Given the description of an element on the screen output the (x, y) to click on. 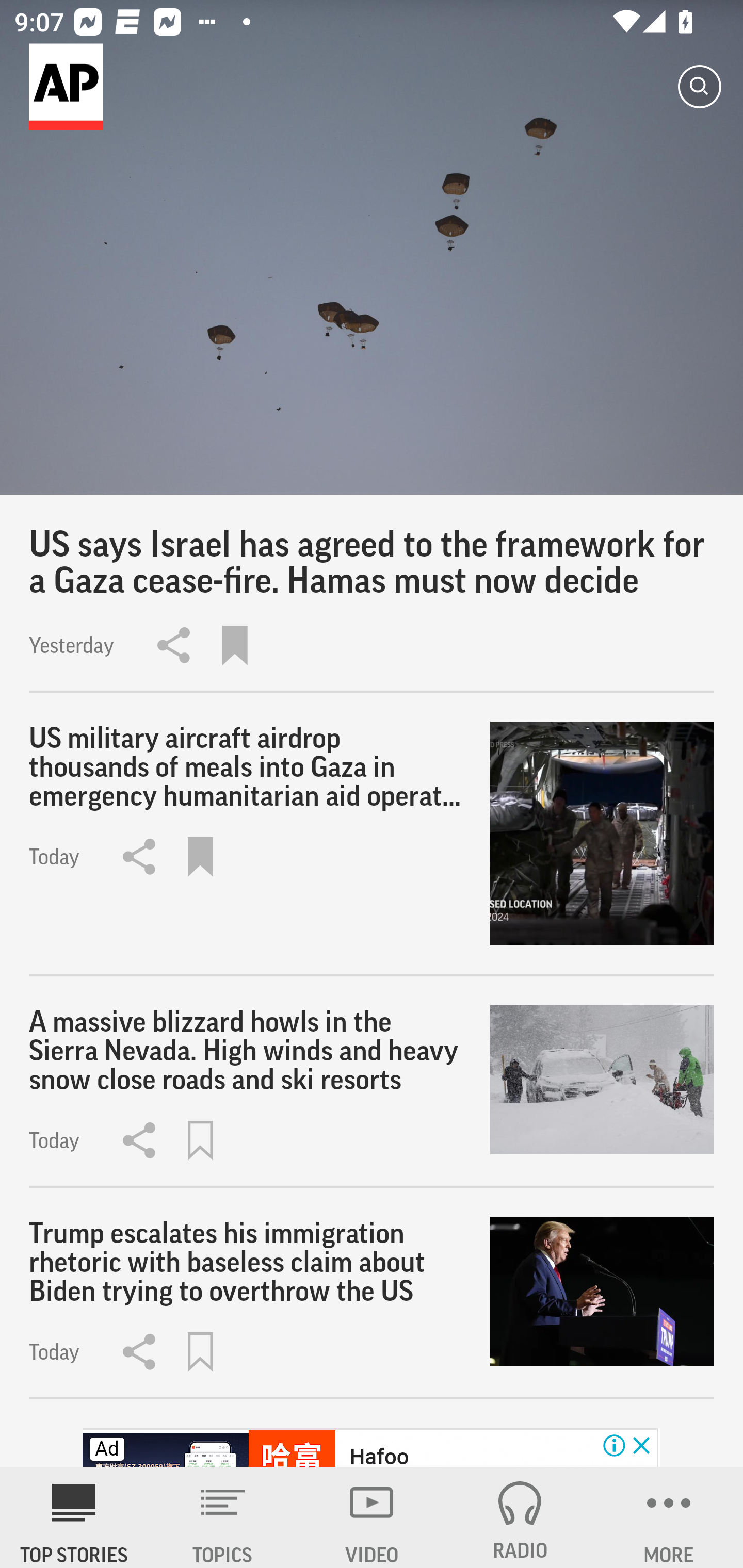
Hafoo (378, 1454)
AP News TOP STORIES (74, 1517)
TOPICS (222, 1517)
VIDEO (371, 1517)
RADIO (519, 1517)
MORE (668, 1517)
